Given the description of an element on the screen output the (x, y) to click on. 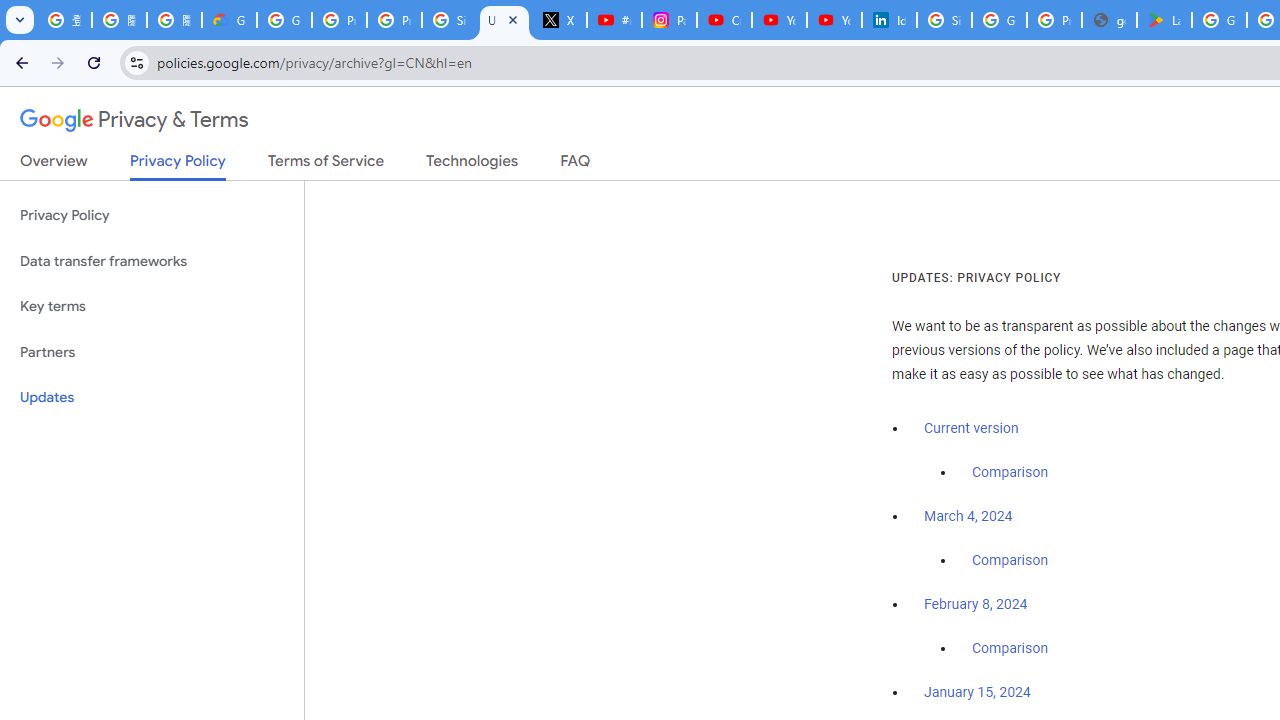
Comparison (1009, 649)
Privacy Help Center - Policies Help (339, 20)
Sign in - Google Accounts (943, 20)
Privacy Help Center - Policies Help (394, 20)
YouTube Culture & Trends - YouTube Top 10, 2021 (833, 20)
